Given the description of an element on the screen output the (x, y) to click on. 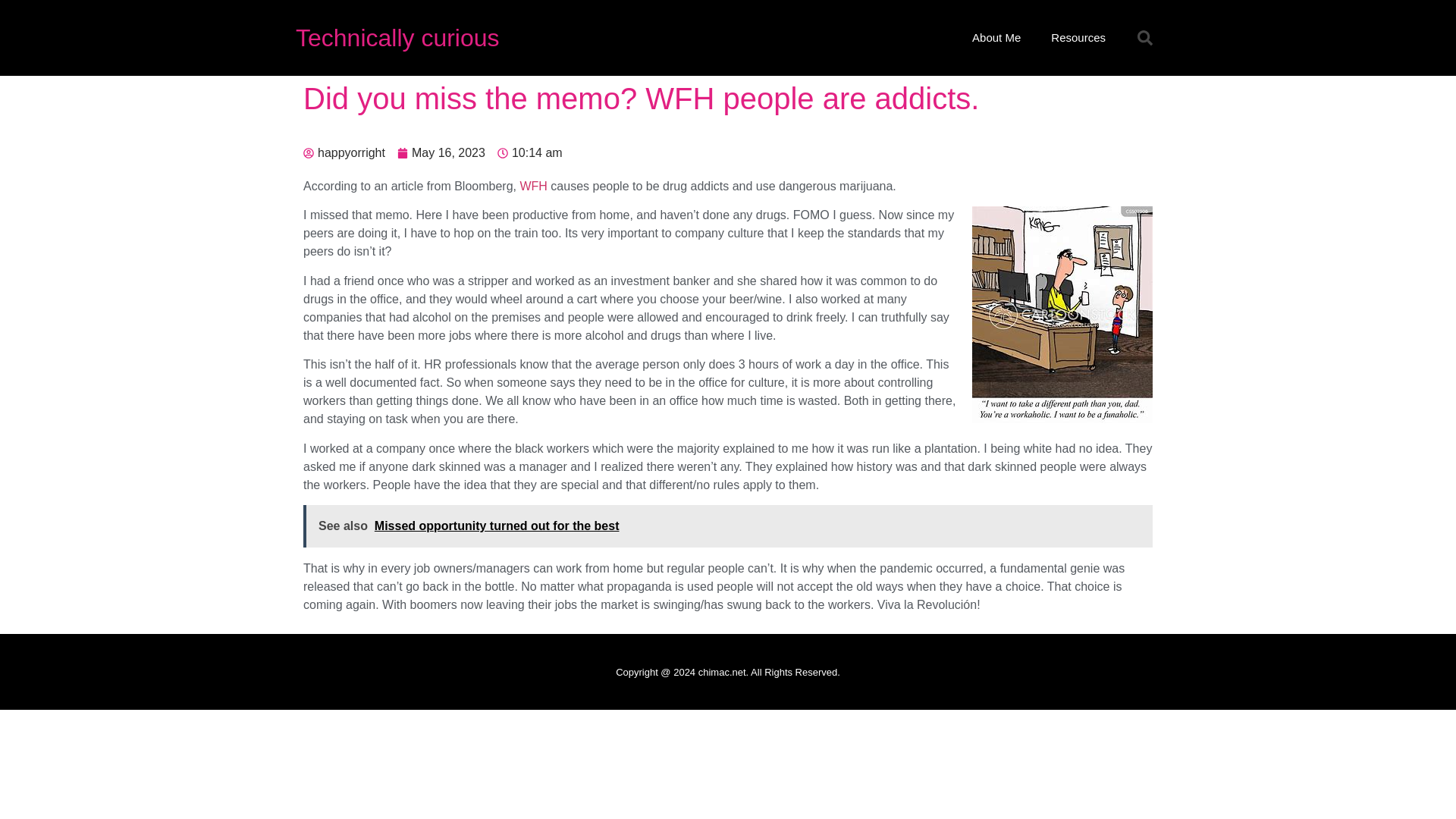
About Me (995, 38)
May 16, 2023 (440, 153)
WFH (533, 185)
See also  Missed opportunity turned out for the best (727, 526)
happyorright (343, 153)
Technically curious (397, 37)
Resources (1078, 38)
